Given the description of an element on the screen output the (x, y) to click on. 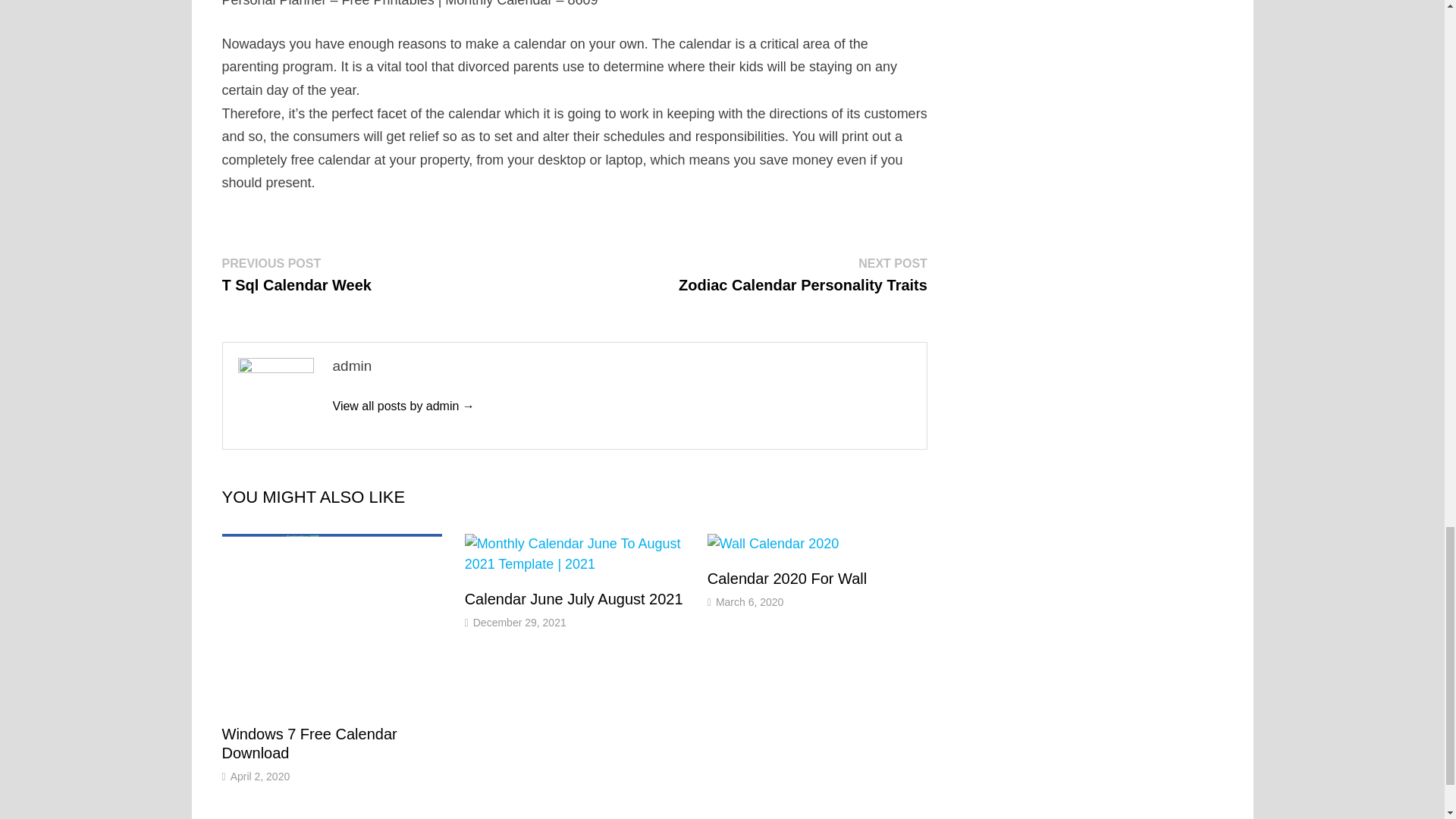
Calendar June July August 2021 (573, 598)
December 29, 2021 (519, 622)
Calendar June July August 2021 (573, 598)
April 2, 2020 (259, 776)
Calendar 2020 For Wall (786, 578)
March 6, 2020 (750, 602)
Windows 7 Free Calendar Download (296, 274)
admin (308, 743)
Calendar 2020 For Wall (402, 405)
Windows 7 Free Calendar Download (802, 274)
